Given the description of an element on the screen output the (x, y) to click on. 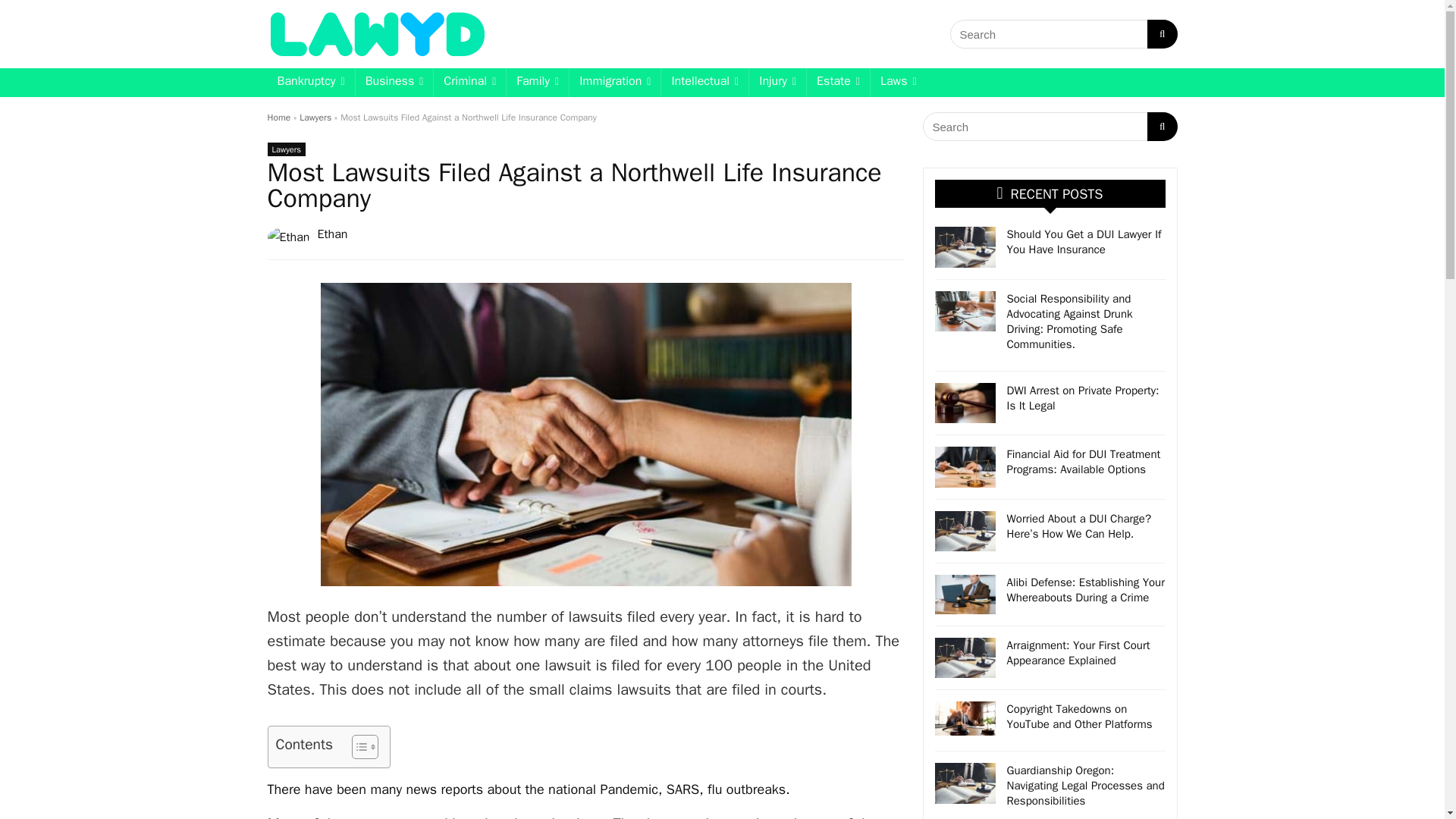
Bankruptcy (309, 82)
Criminal (469, 82)
Immigration (615, 82)
Injury (777, 82)
Family (537, 82)
Business (394, 82)
Intellectual (704, 82)
View all posts in Lawyers (285, 149)
